Given the description of an element on the screen output the (x, y) to click on. 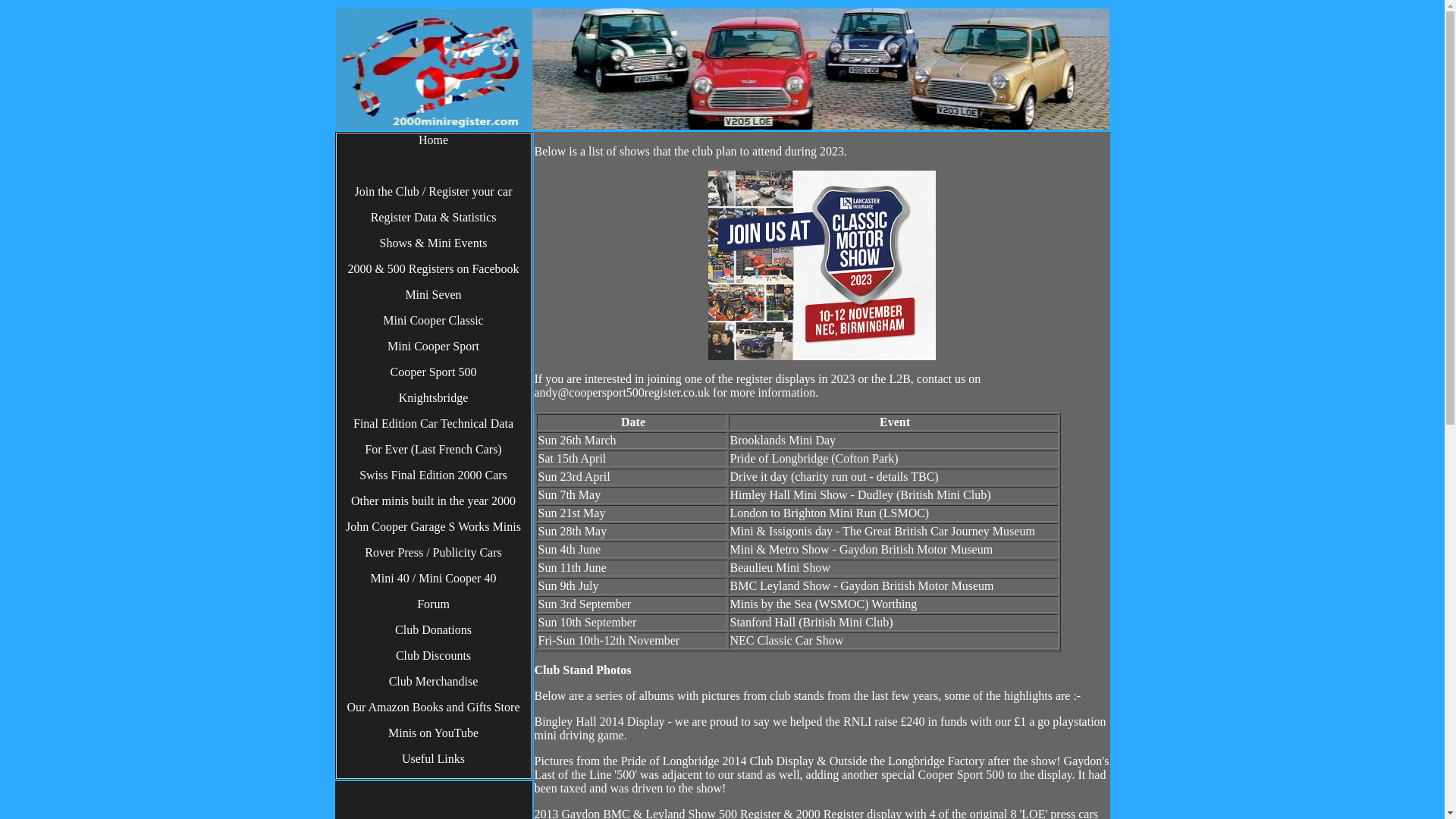
Final Edition Car Technical Data Element type: text (433, 423)
Register Data & Statistics Element type: text (433, 217)
Minis on YouTube Element type: text (433, 733)
Join the Club / Register your car Element type: text (433, 191)
Knightsbridge Element type: text (433, 397)
Other minis built in the year 2000 Element type: text (433, 501)
Swiss Final Edition 2000 Cars Element type: text (433, 475)
Club Donations Element type: text (433, 630)
Home Element type: text (433, 140)
Mini Cooper Sport Element type: text (433, 346)
Cooper Sport 500 Element type: text (433, 372)
Mini 40 / Mini Cooper 40 Element type: text (433, 578)
Club Discounts Element type: text (433, 655)
Club Merchandise Element type: text (433, 681)
2000 & 500 Registers on Facebook Element type: text (433, 269)
Rover Press / Publicity Cars Element type: text (433, 552)
Useful Links Element type: text (433, 758)
For Ever (Last French Cars) Element type: text (433, 449)
Mini Cooper Classic Element type: text (433, 320)
Forum Element type: text (433, 604)
Our Amazon Books and Gifts Store Element type: text (433, 707)
Shows & Mini Events Element type: text (433, 243)
John Cooper Garage S Works Minis Element type: text (433, 526)
Mini Seven Element type: text (433, 294)
